Given the description of an element on the screen output the (x, y) to click on. 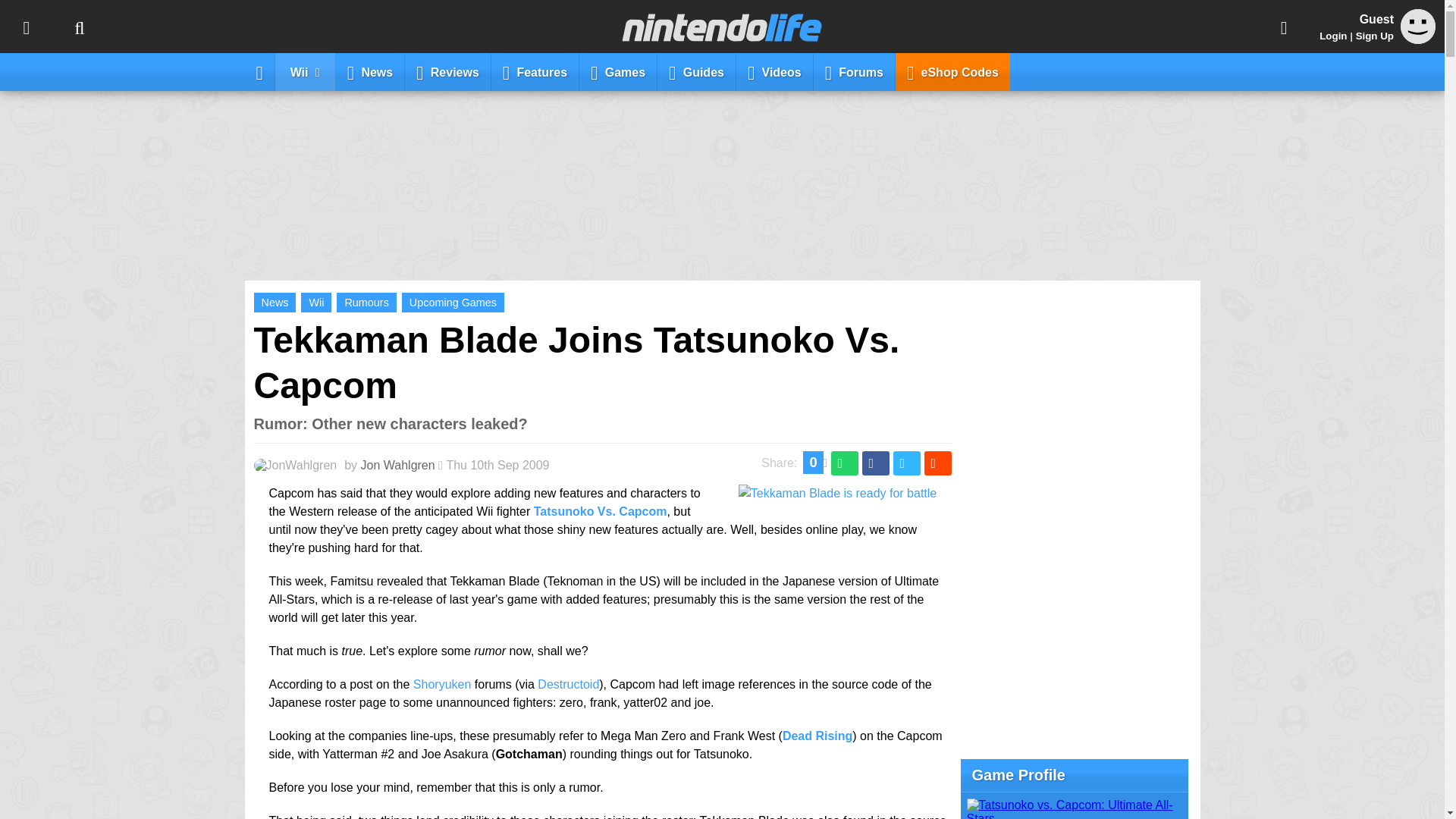
Topics (26, 26)
Wii (316, 302)
Home (259, 71)
News (370, 71)
Nintendo Life (721, 27)
Guest (1417, 26)
Sign Up (1374, 35)
Share This Page (1283, 26)
Login (1332, 35)
Share this on Twitter (906, 463)
Tekkaman Blade is ready for battle (837, 492)
Share this on Reddit (936, 463)
Share this on Facebook (874, 463)
News (274, 302)
Forums (854, 71)
